Given the description of an element on the screen output the (x, y) to click on. 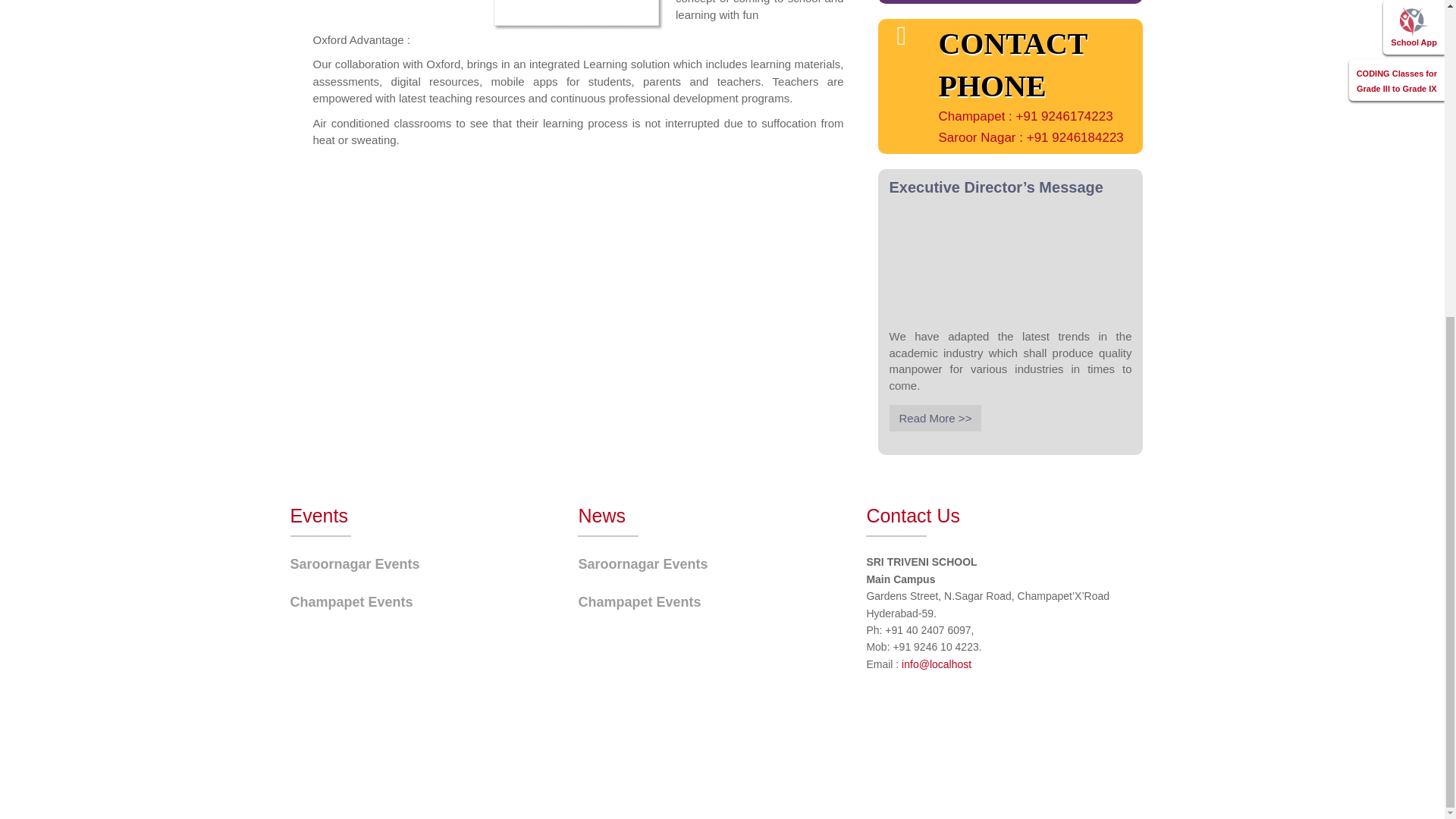
Saroornagar Events (354, 563)
Saroornagar Events (642, 563)
Champapet Events (350, 601)
